Given the description of an element on the screen output the (x, y) to click on. 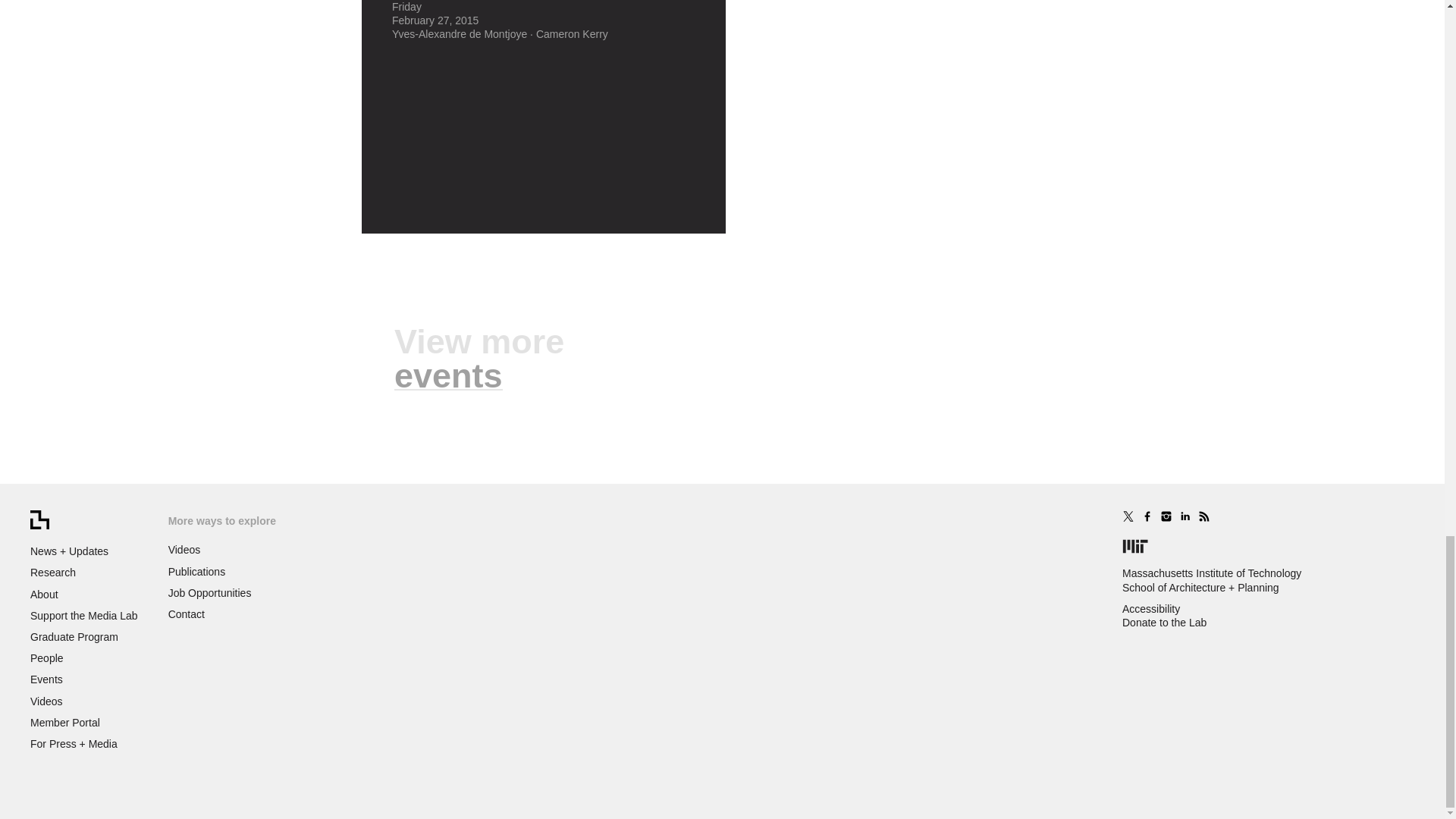
About (44, 594)
events (448, 375)
Support the Media Lab (84, 615)
Yves-Alexandre de Montjoye (459, 33)
Research (52, 572)
Cameron Kerry (571, 33)
